Given the description of an element on the screen output the (x, y) to click on. 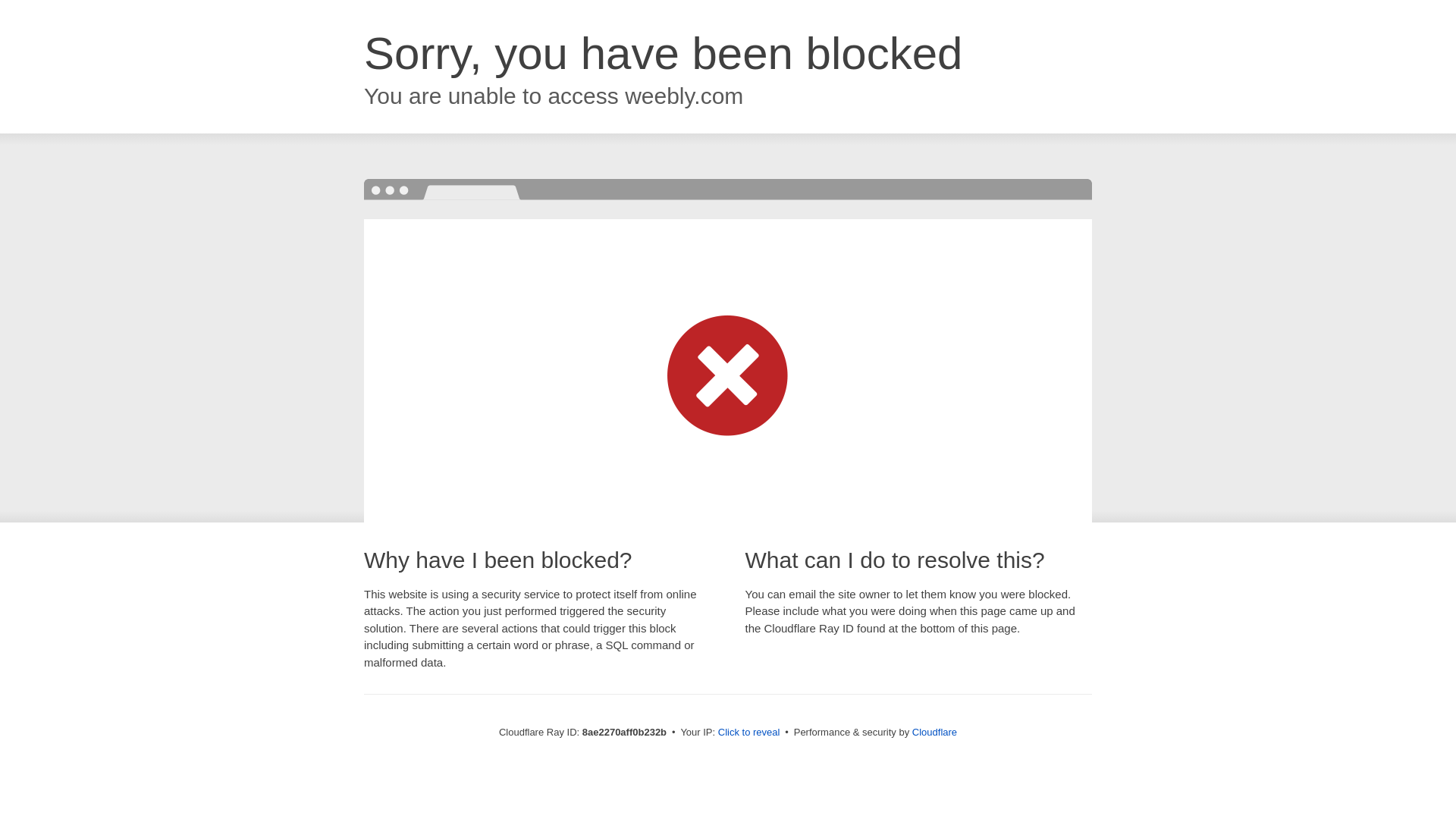
Cloudflare (934, 731)
Click to reveal (748, 732)
